Given the description of an element on the screen output the (x, y) to click on. 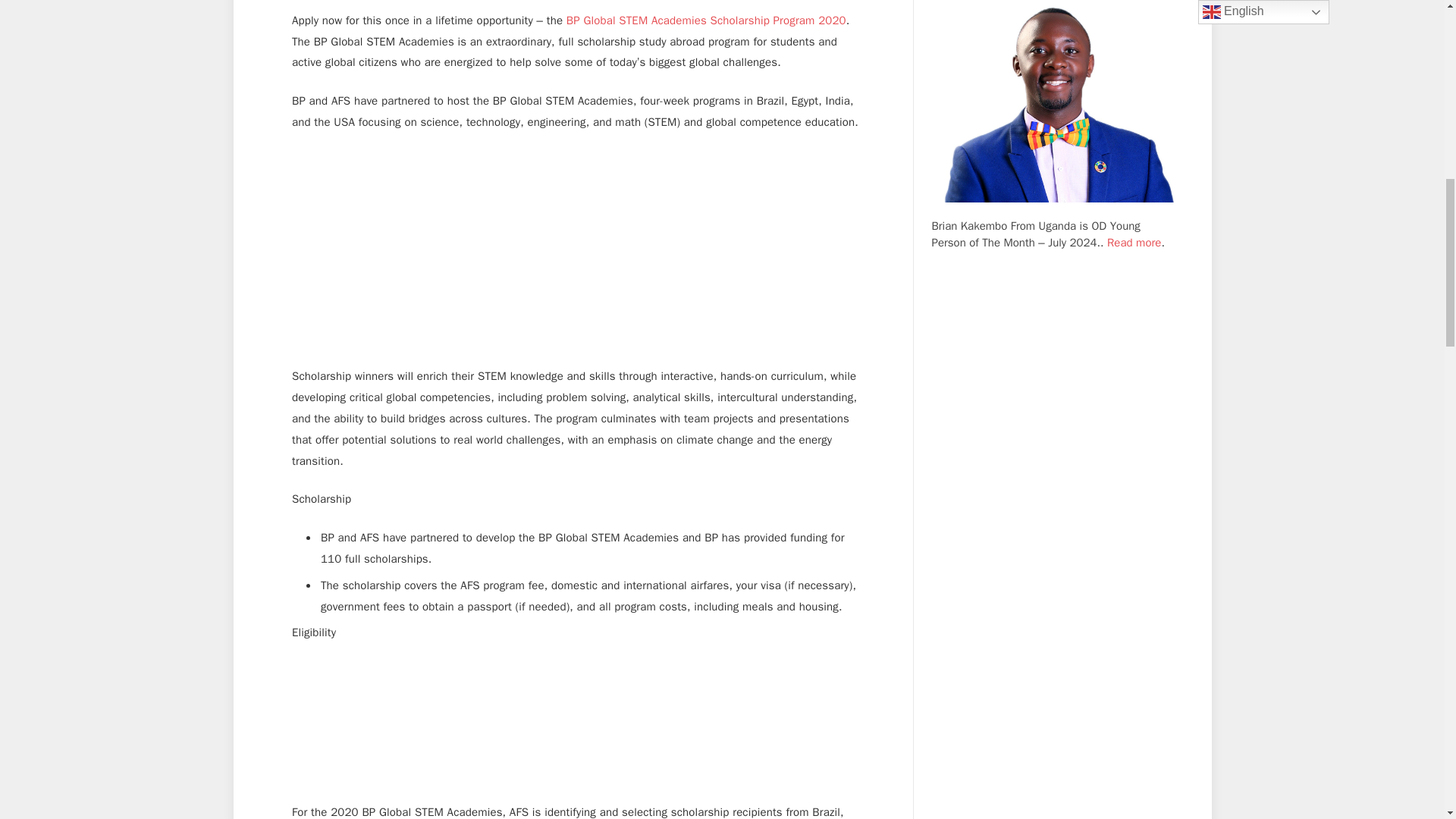
Advertisement (579, 731)
Advertisement (579, 256)
